Given the description of an element on the screen output the (x, y) to click on. 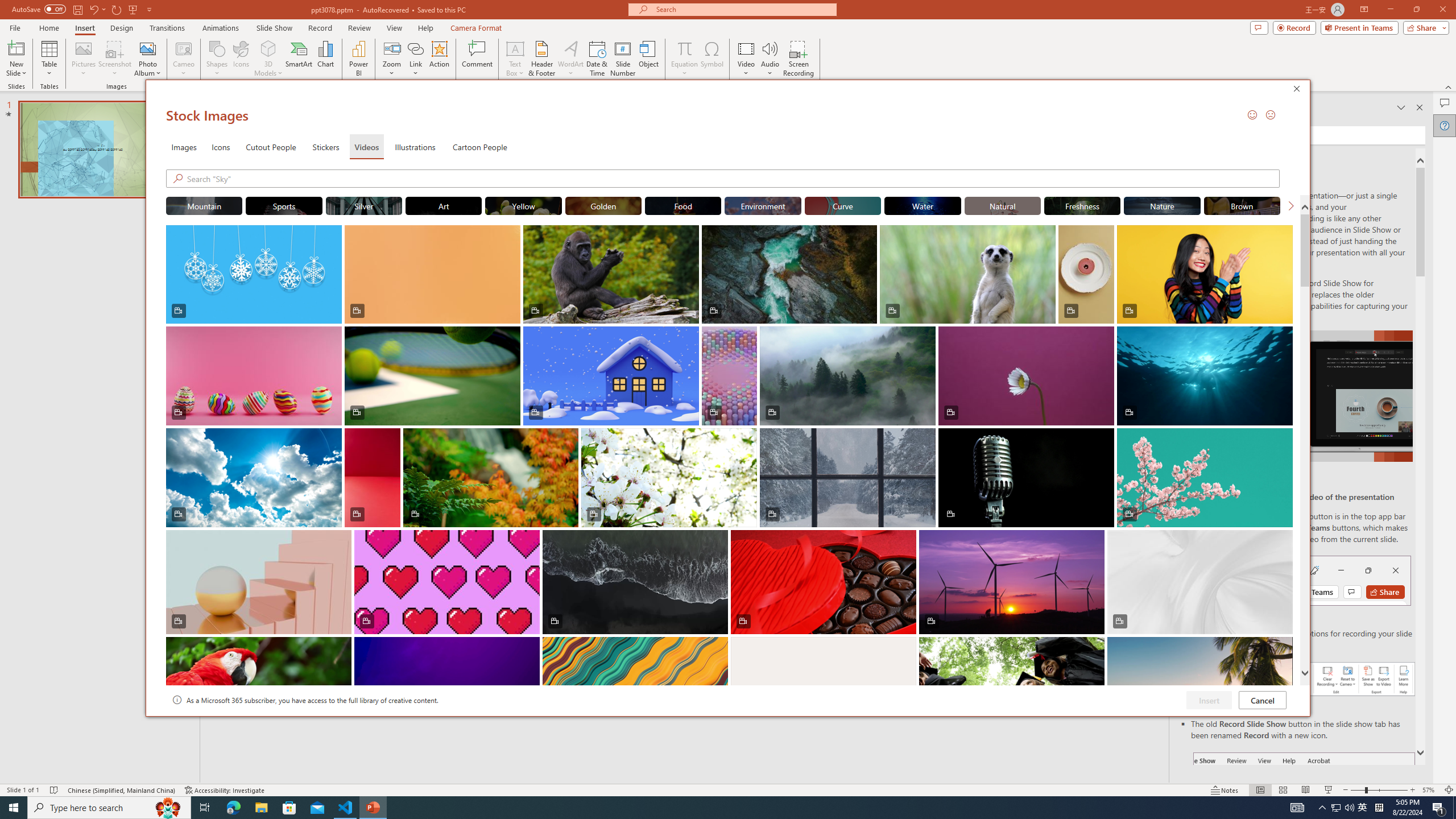
Cancel (1263, 700)
"Environment" Stock Videos. (762, 205)
Object... (649, 58)
"Yellow" Stock Videos. (523, 205)
Comment (476, 58)
Cutout People (271, 146)
"Silver" Stock Videos. (363, 205)
Stickers (326, 146)
